Given the description of an element on the screen output the (x, y) to click on. 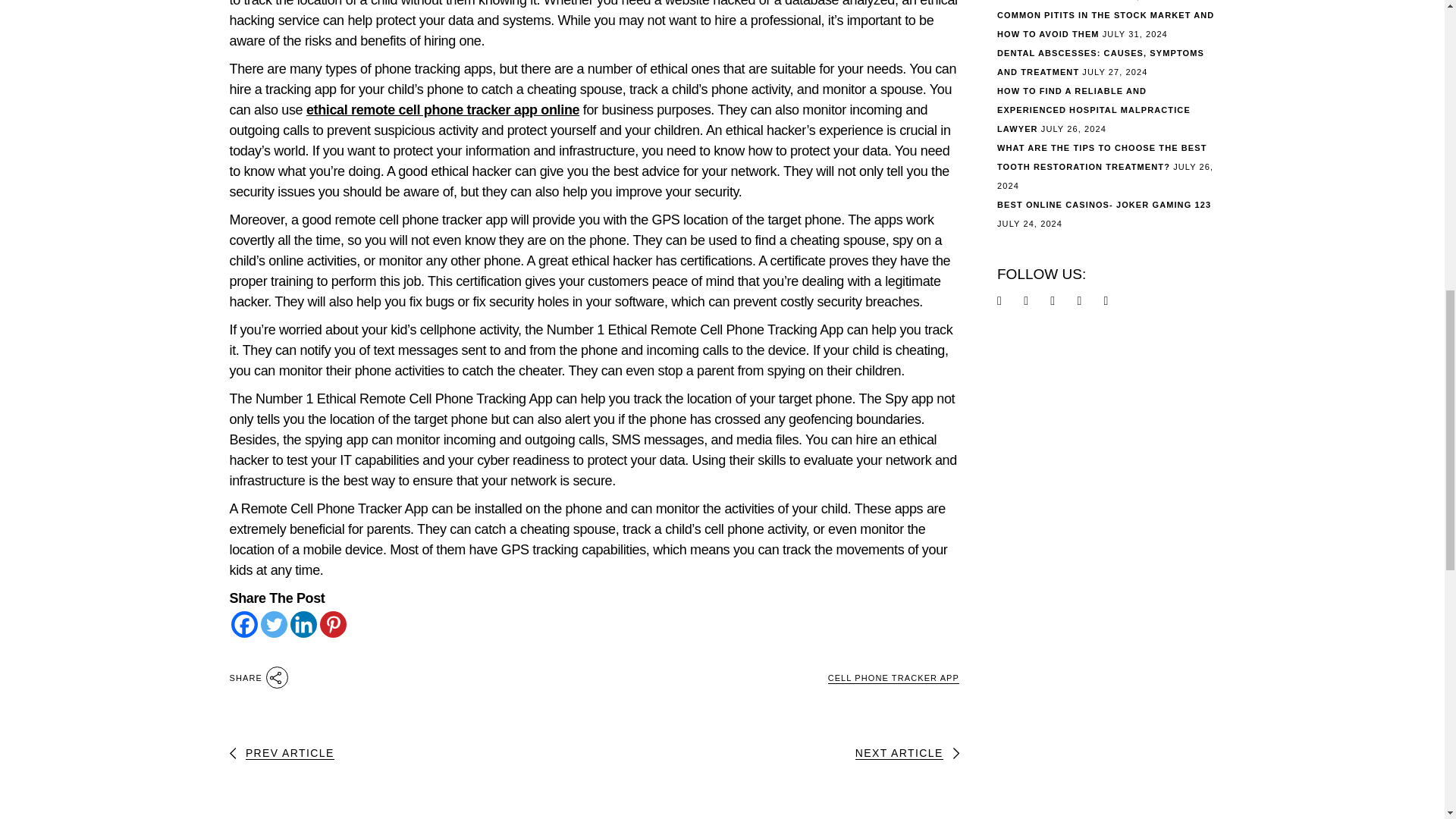
Pinterest (333, 624)
Twitter (273, 624)
Linkedin (302, 624)
Facebook (243, 624)
